Given the description of an element on the screen output the (x, y) to click on. 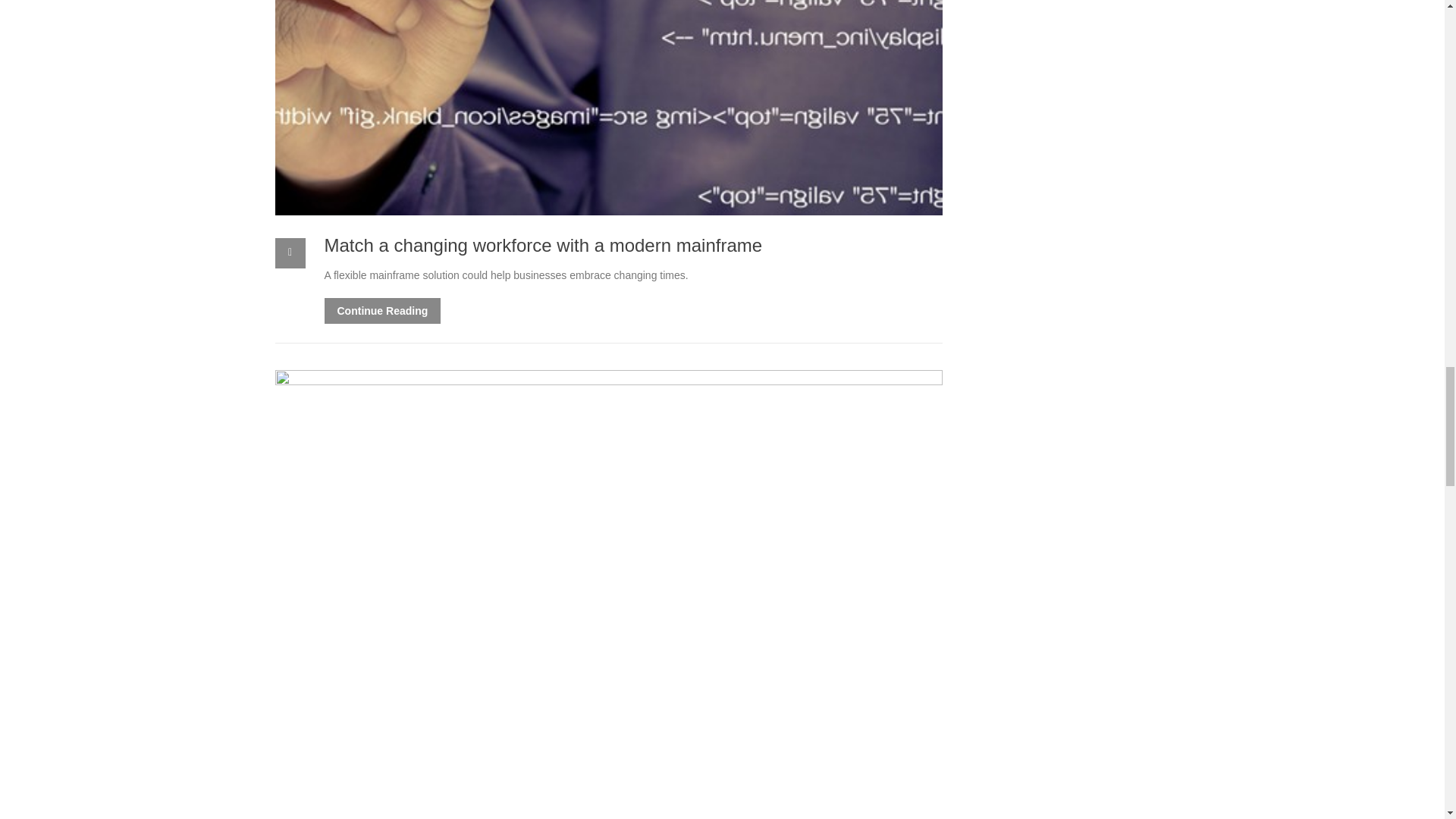
Match a changing workforce with a modern mainframe (543, 245)
Continue Reading (382, 310)
